Given the description of an element on the screen output the (x, y) to click on. 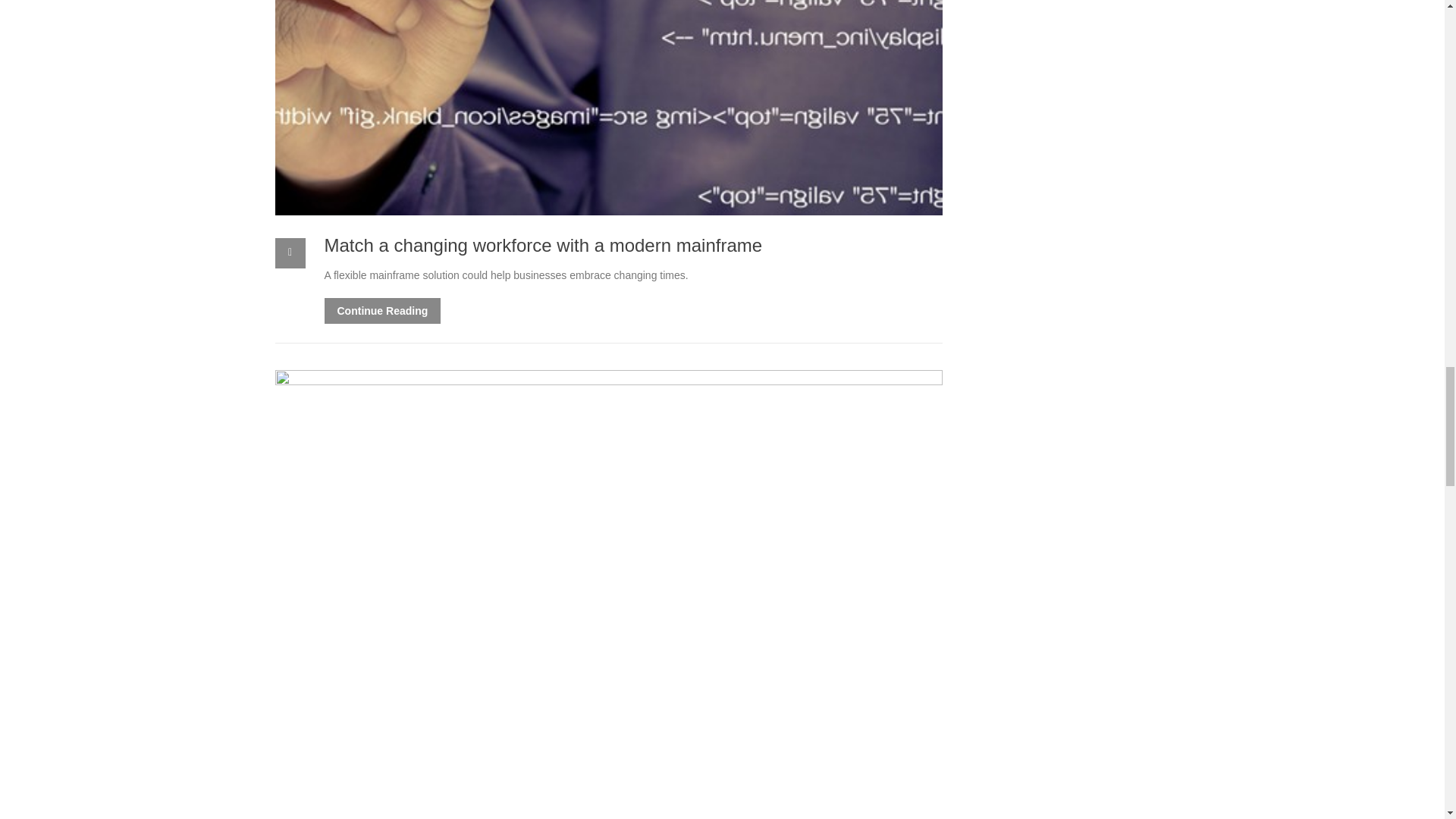
Match a changing workforce with a modern mainframe (543, 245)
Continue Reading (382, 310)
